Given the description of an element on the screen output the (x, y) to click on. 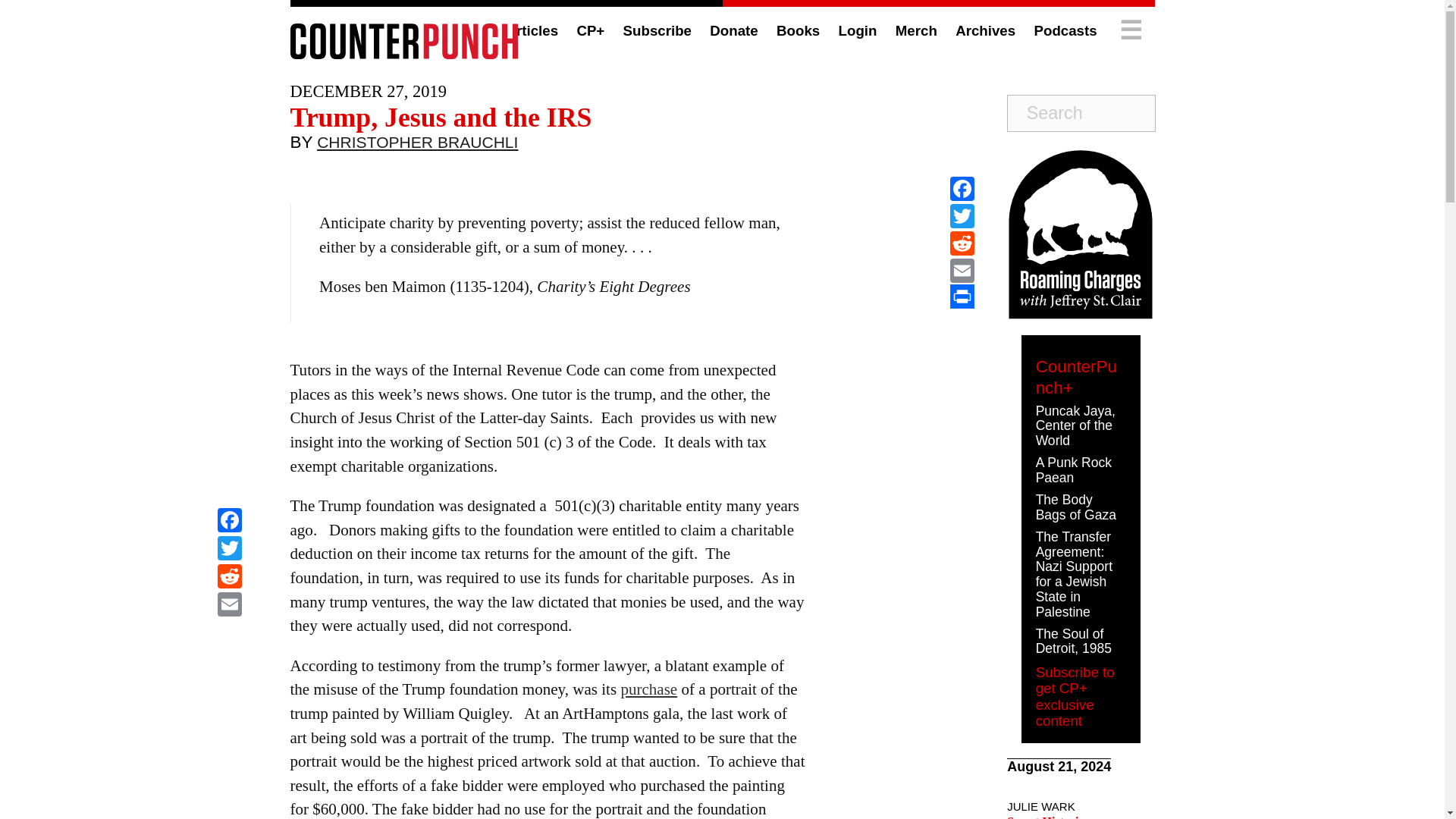
Print This Post (962, 296)
Books (797, 30)
Login (857, 30)
Archives (984, 30)
Email (962, 270)
Twitter (962, 216)
Reddit (229, 578)
Puncak Jaya, Center of the World (1075, 425)
2019-12-27 (367, 90)
Email (229, 605)
